Given the description of an element on the screen output the (x, y) to click on. 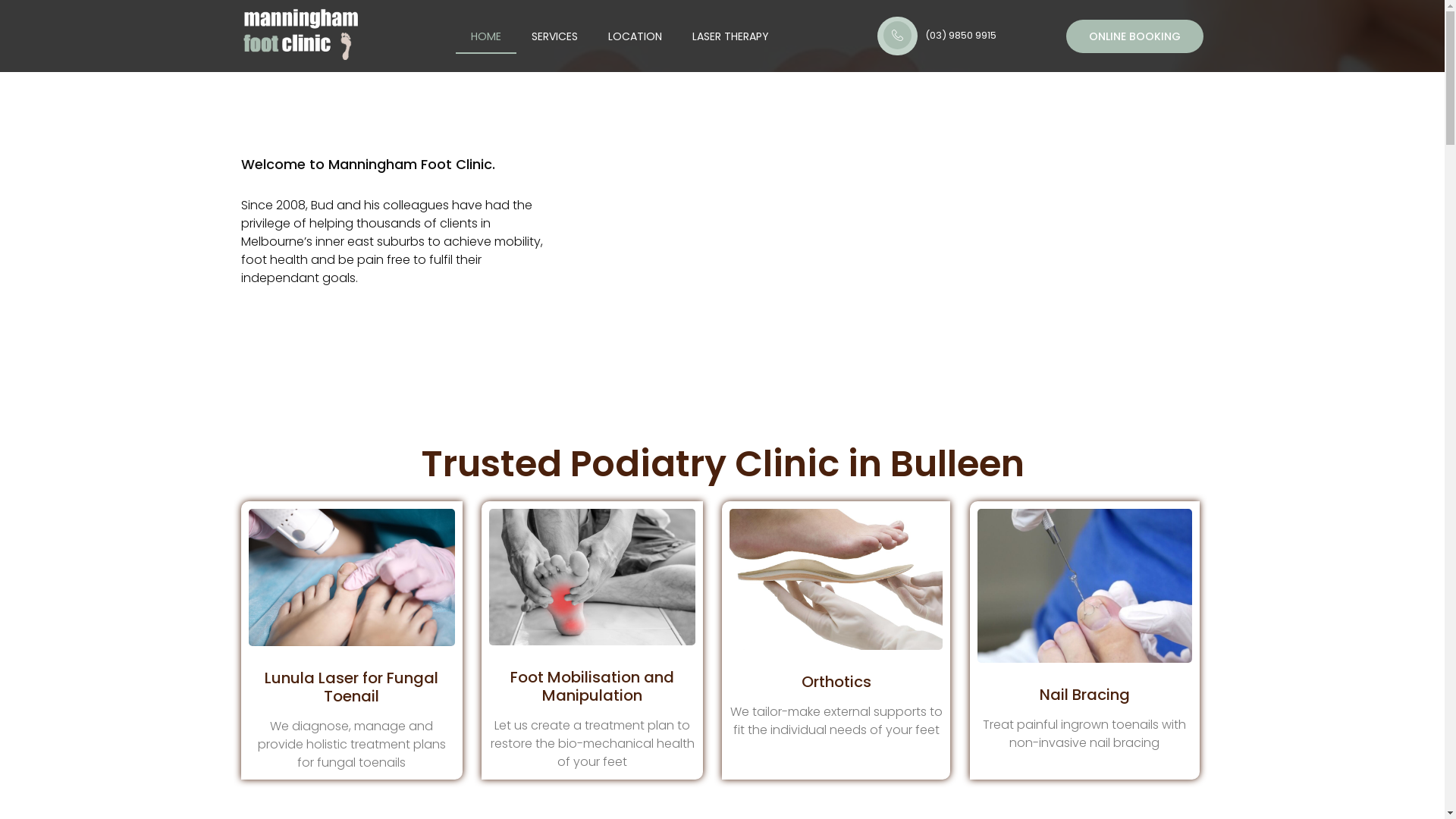
(03) 9850 9915 Element type: text (960, 35)
Orthotics Element type: text (836, 681)
LASER THERAPY Element type: text (730, 35)
Foot Mobilisation and Manipulation Element type: text (592, 686)
HOME Element type: text (485, 35)
Lunula Laser for Fungal Toenail Element type: text (351, 686)
Maningham Foot Clinic Logo Element type: hover (301, 35)
ONLINE BOOKING Element type: text (1134, 36)
LOCATION Element type: text (635, 35)
Nail Bracing Element type: text (1084, 694)
SERVICES Element type: text (554, 35)
